Given the description of an element on the screen output the (x, y) to click on. 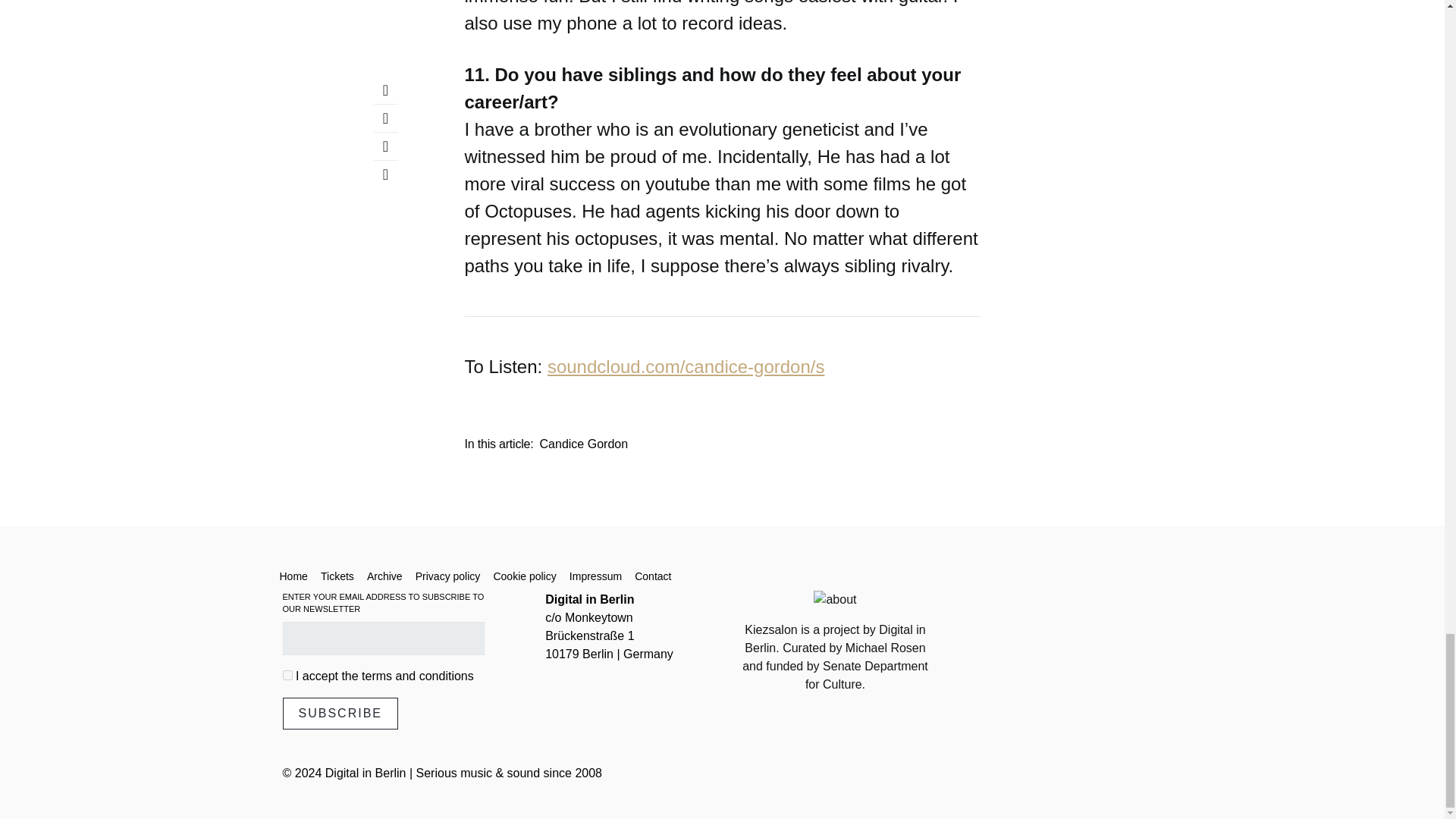
on (287, 674)
Please enter a valid email address (382, 637)
Subscribe (339, 712)
